Given the description of an element on the screen output the (x, y) to click on. 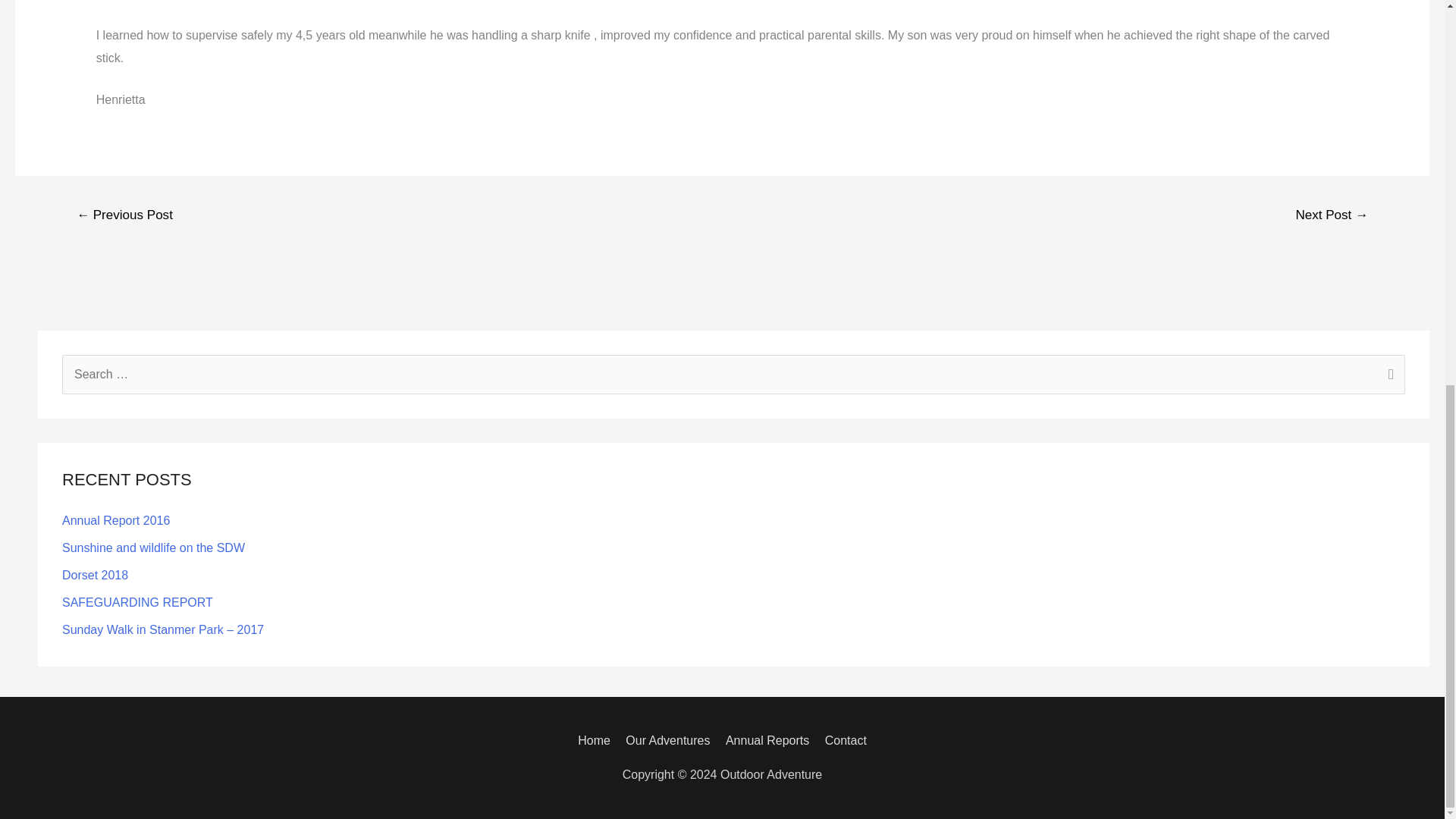
Annual Reports (767, 739)
Our Adventures (668, 739)
SAFEGUARDING REPORT (137, 602)
Sunshine and wildlife on the SDW (153, 547)
Contact (842, 739)
Dorset 2018 (95, 574)
Home (596, 739)
Annual Report 2016 (116, 520)
